Given the description of an element on the screen output the (x, y) to click on. 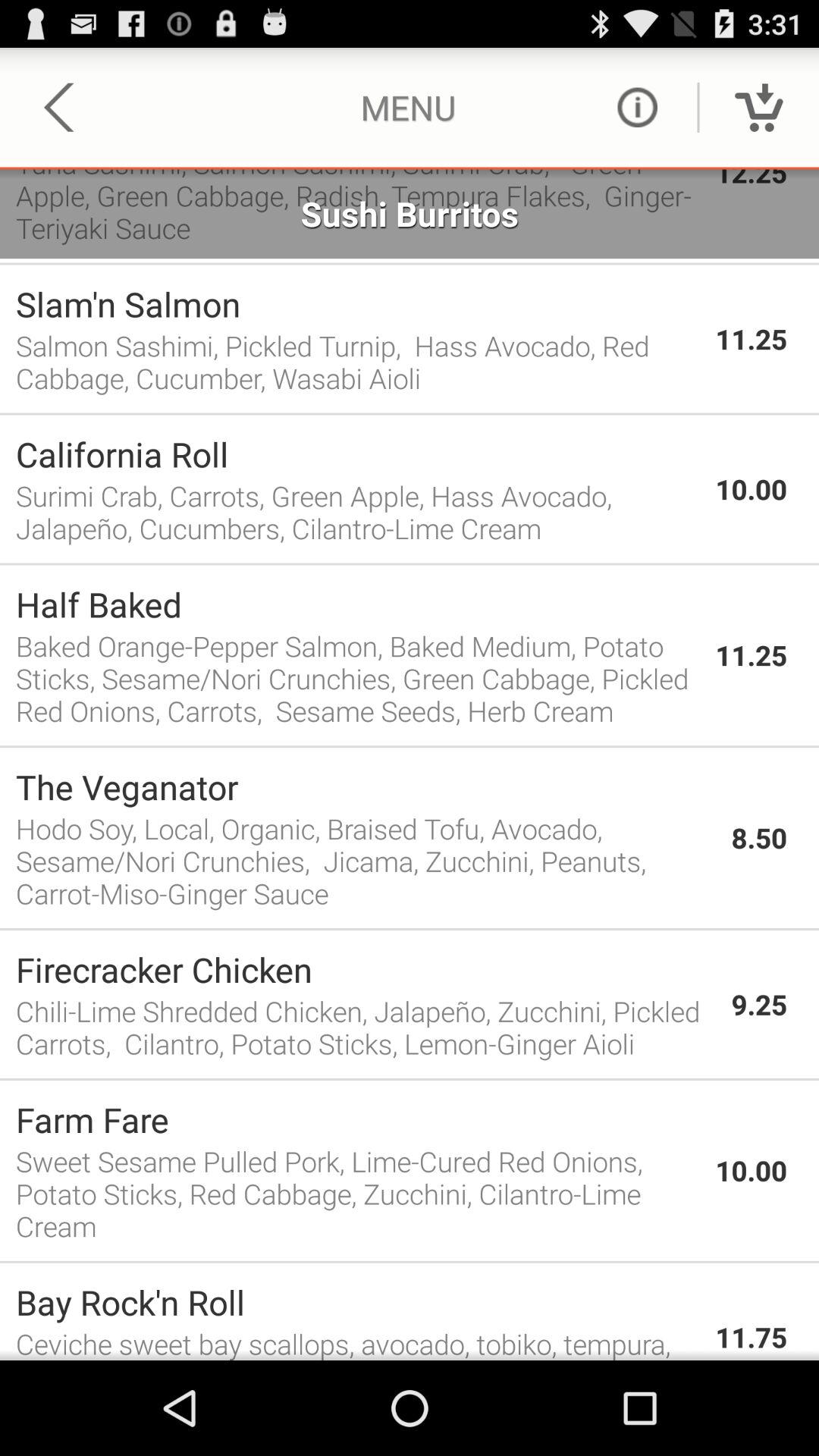
launch the app above the hodo soy local icon (365, 786)
